Given the description of an element on the screen output the (x, y) to click on. 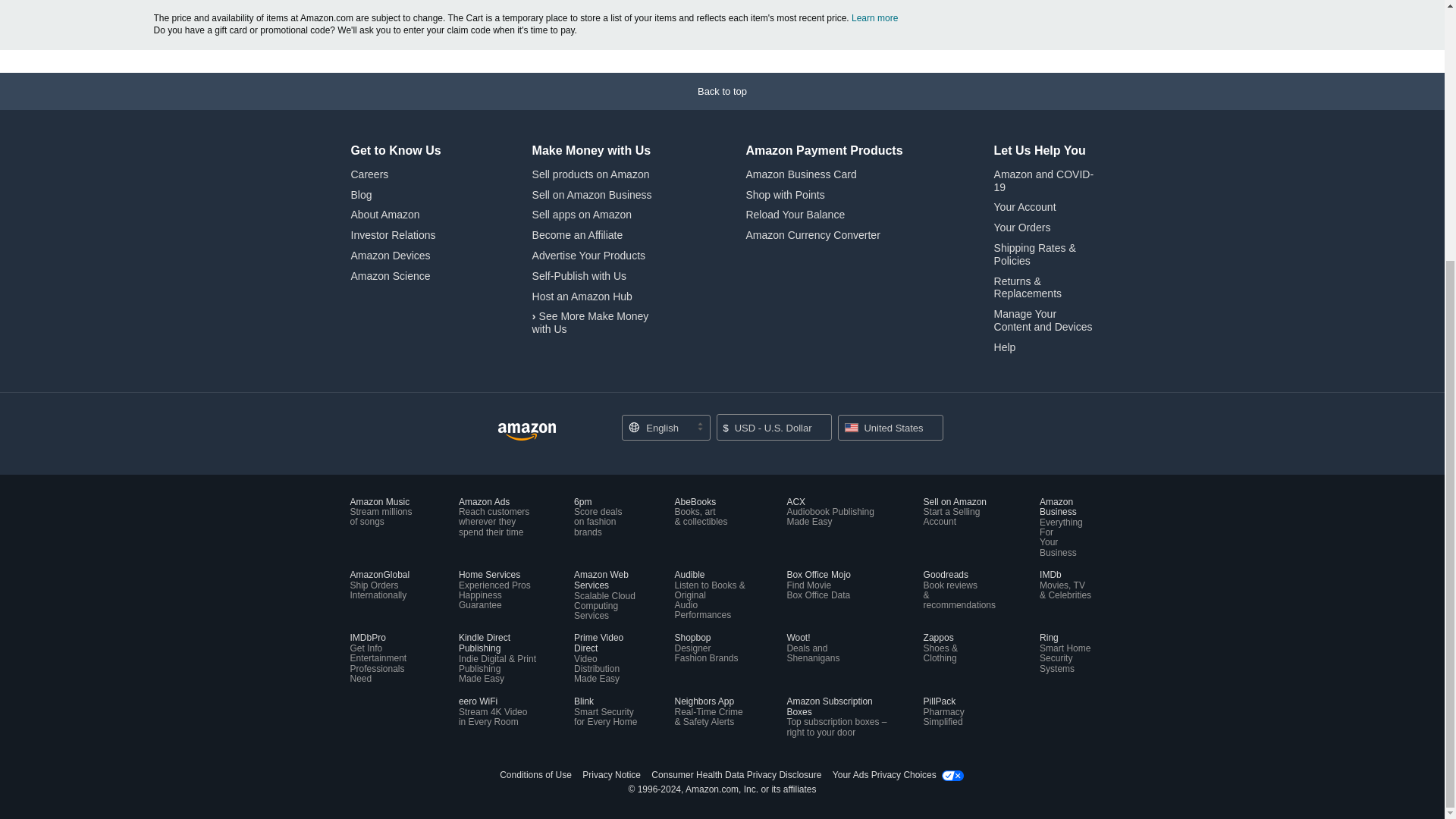
Sell on Amazon Business (592, 194)
Amazon Science (389, 275)
Amazon Devices (389, 255)
Self-Publish with Us (579, 275)
Investor Relations (392, 234)
Blog (360, 194)
Amazon Business Card (800, 174)
Learn more (874, 18)
Advertise Your Products (588, 255)
See More Make Money with Us (590, 322)
Host an Amazon Hub (581, 296)
Become an Affiliate (577, 234)
Sell products on Amazon (590, 174)
About Amazon (384, 214)
Sell apps on Amazon (581, 214)
